Given the description of an element on the screen output the (x, y) to click on. 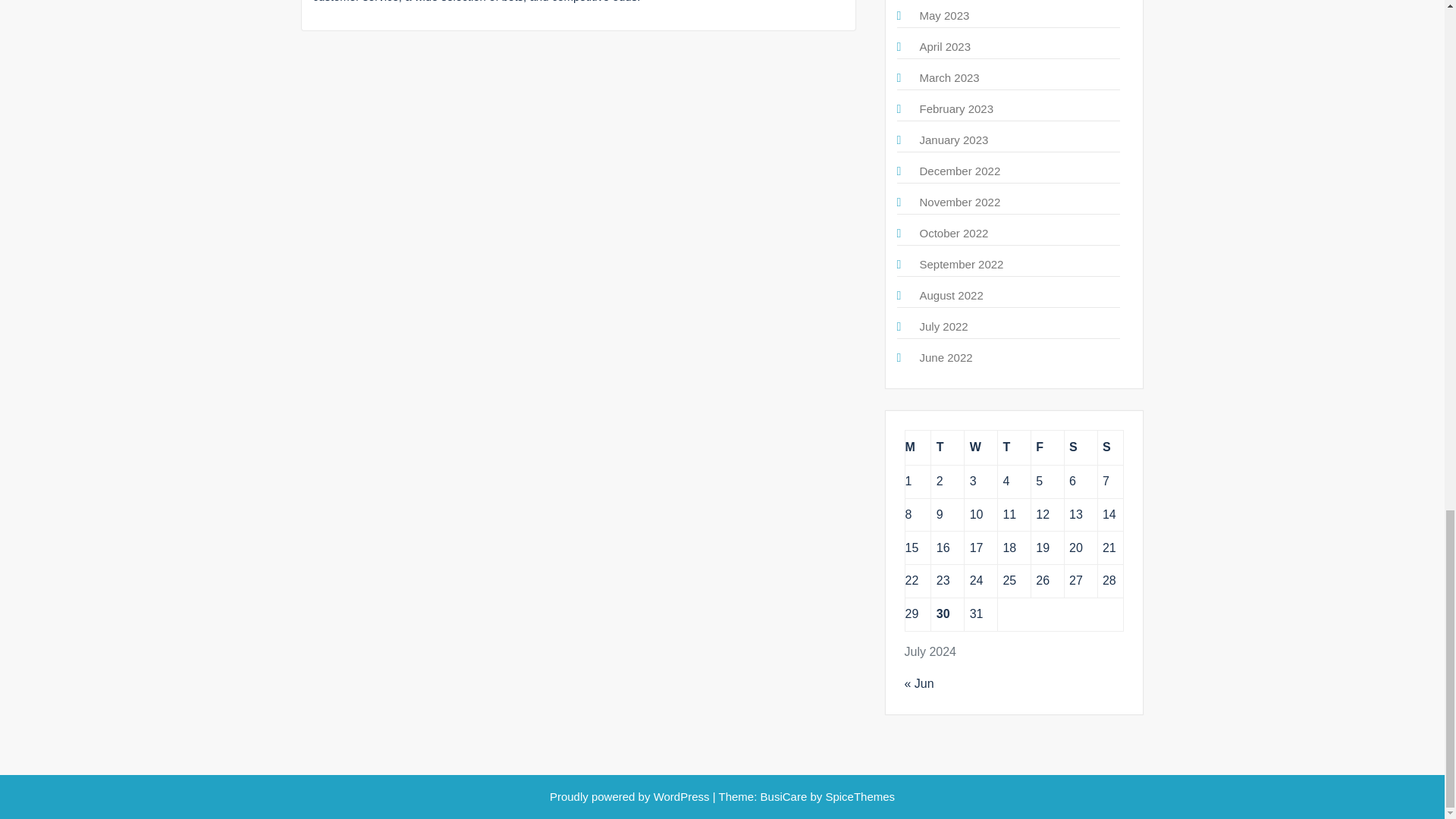
Saturday (1080, 447)
September 2022 (960, 264)
Friday (1047, 447)
March 2023 (948, 77)
April 2023 (944, 46)
May 2023 (943, 15)
December 2022 (959, 170)
Wednesday (980, 447)
Thursday (1013, 447)
Tuesday (947, 447)
August 2022 (950, 295)
November 2022 (959, 201)
July 2022 (943, 326)
January 2023 (953, 139)
February 2023 (955, 108)
